Given the description of an element on the screen output the (x, y) to click on. 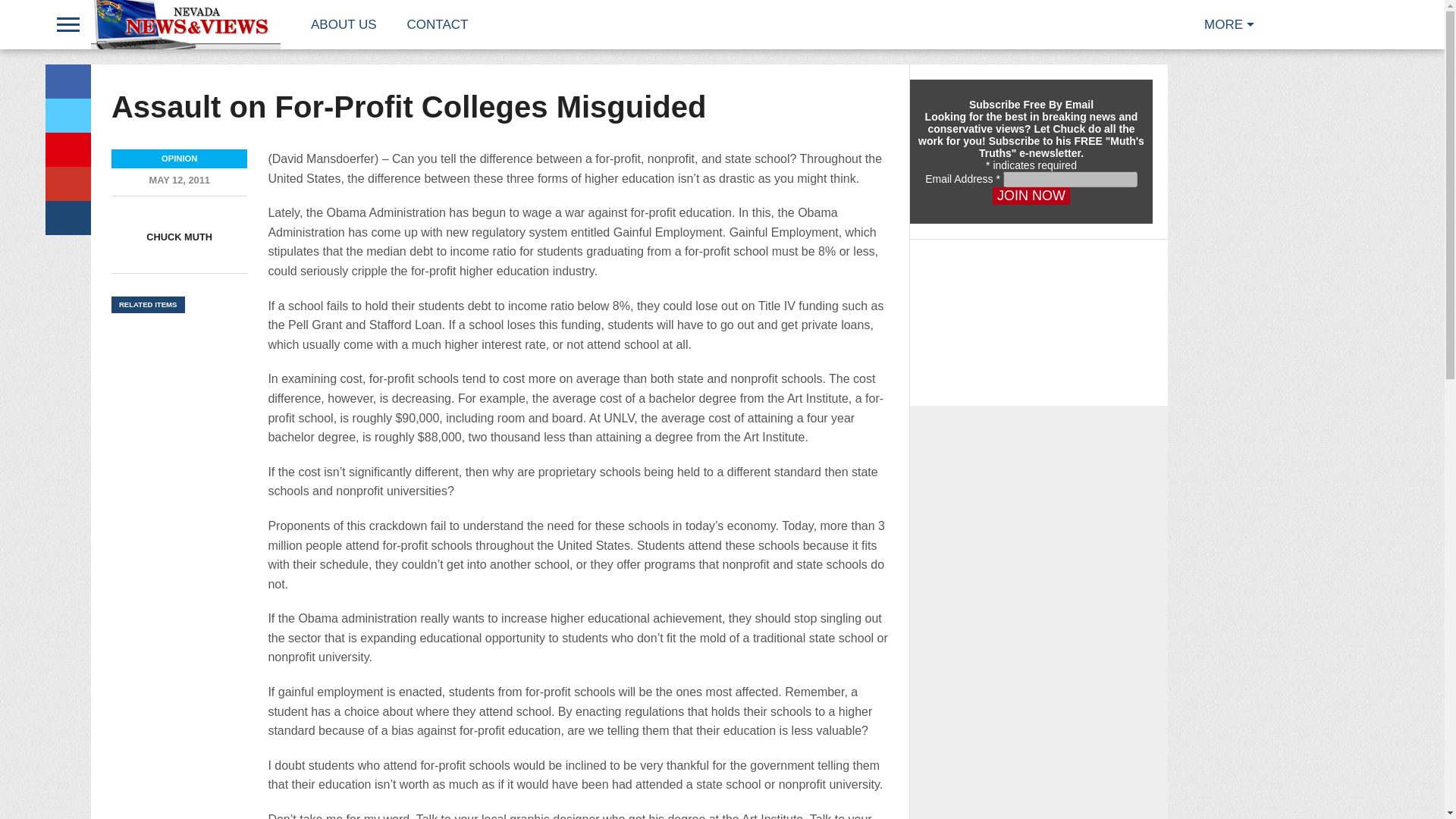
Posts by Chuck Muth (179, 236)
Pin This Post (67, 149)
Tweet This Post (67, 115)
Join Now (1031, 195)
Share on Facebook (67, 81)
